Given the description of an element on the screen output the (x, y) to click on. 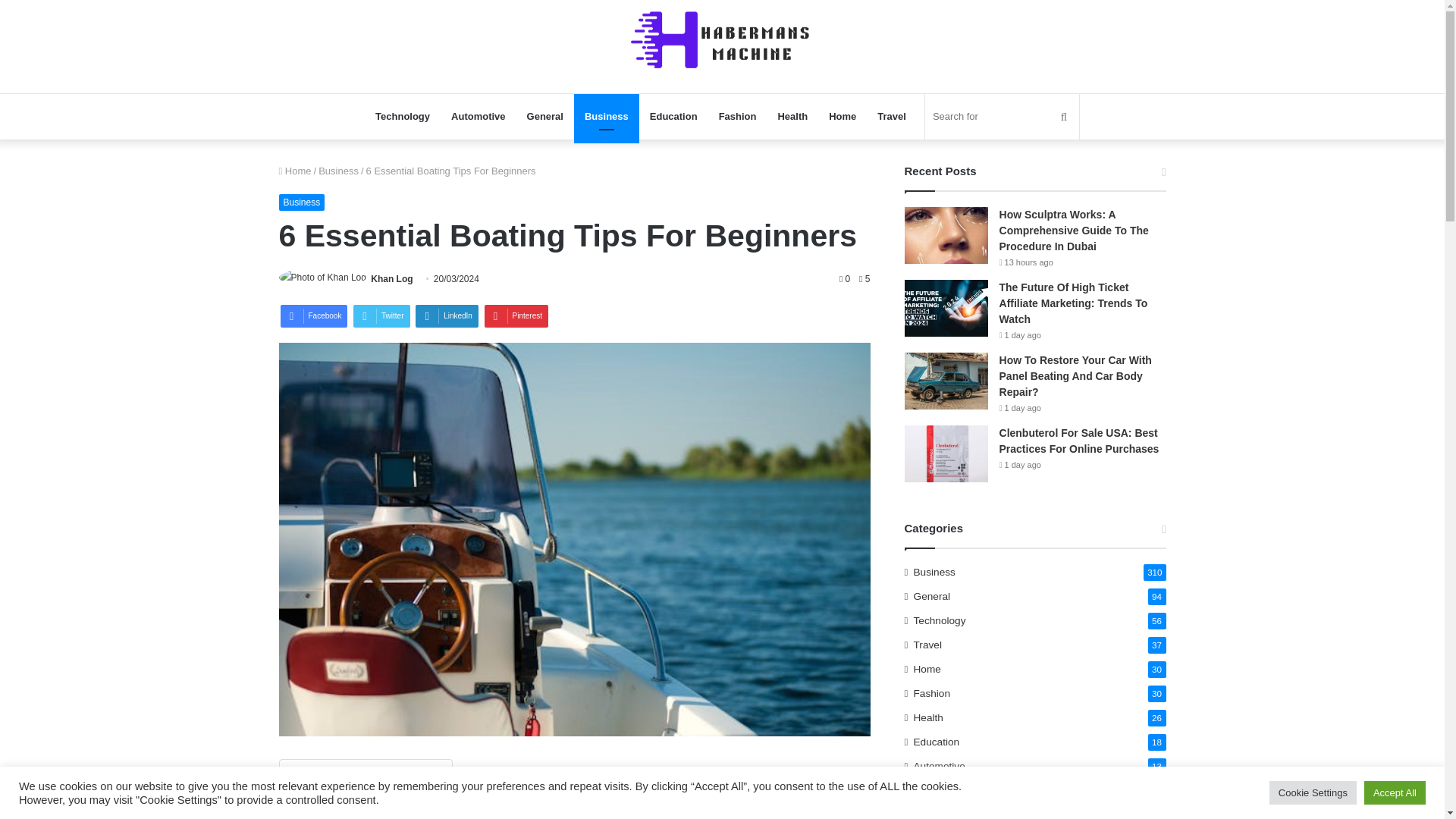
Business (301, 202)
LinkedIn (446, 315)
Home (842, 116)
Twitter (381, 315)
Search for (1001, 116)
Khan Log (391, 278)
2. Getting to Know Your Boat (361, 814)
Business (606, 116)
Business (338, 170)
General (544, 116)
LinkedIn (446, 315)
Facebook (314, 315)
Technology (403, 116)
Haberman Machine (722, 38)
2. Getting to Know Your Boat (361, 814)
